Given the description of an element on the screen output the (x, y) to click on. 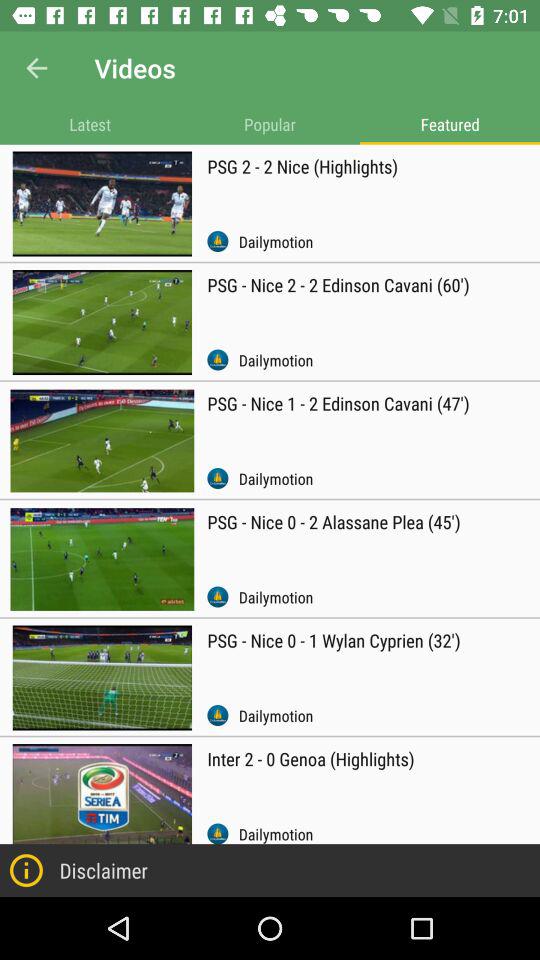
launch the item to the left of the popular icon (90, 124)
